Given the description of an element on the screen output the (x, y) to click on. 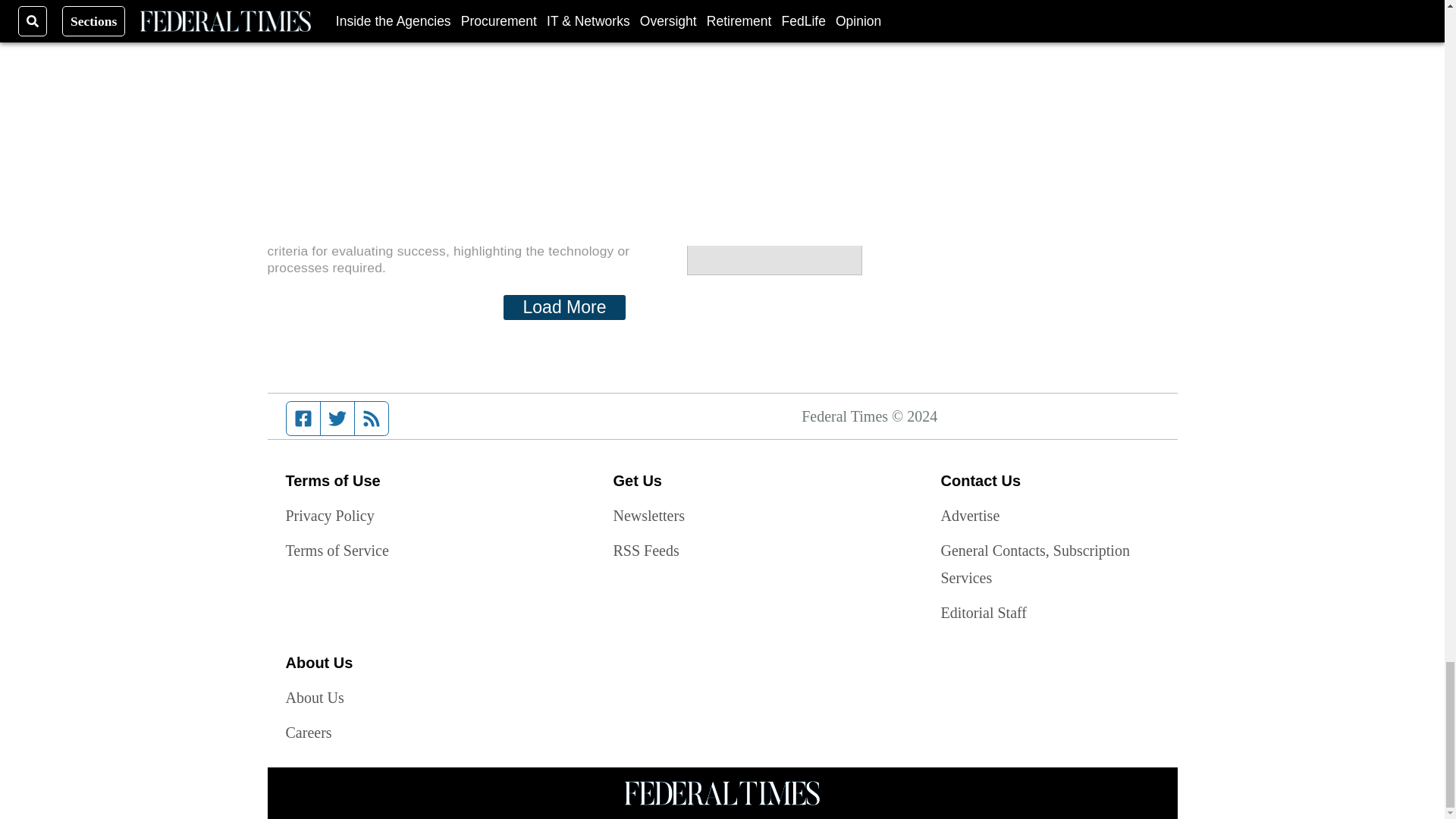
RSS feed (371, 418)
Twitter feed (336, 418)
Facebook page (303, 418)
